Given the description of an element on the screen output the (x, y) to click on. 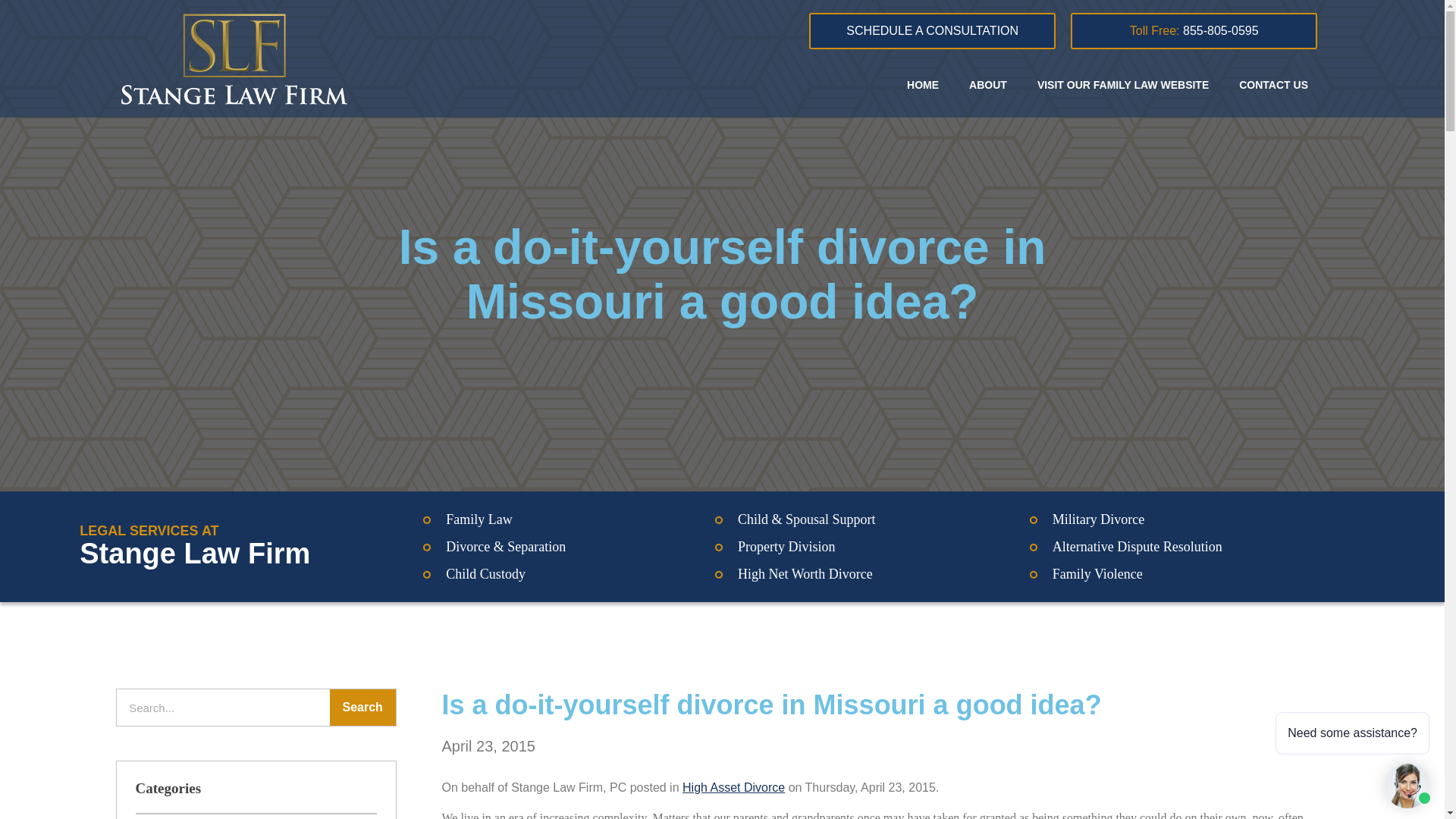
ABOUT (987, 84)
Alternative Dispute Resolution (1137, 546)
Toll Free: 855-805-0595 (1193, 30)
CONTACT US (1273, 84)
Military Divorce (1098, 519)
Child Custody (485, 573)
Family Violence (1097, 573)
Property Division (786, 546)
Search (363, 707)
Family Law (478, 519)
HOME (922, 84)
High Net Worth Divorce (805, 573)
VISIT OUR FAMILY LAW WEBSITE (1123, 84)
SCHEDULE A CONSULTATION (932, 30)
